Given the description of an element on the screen output the (x, y) to click on. 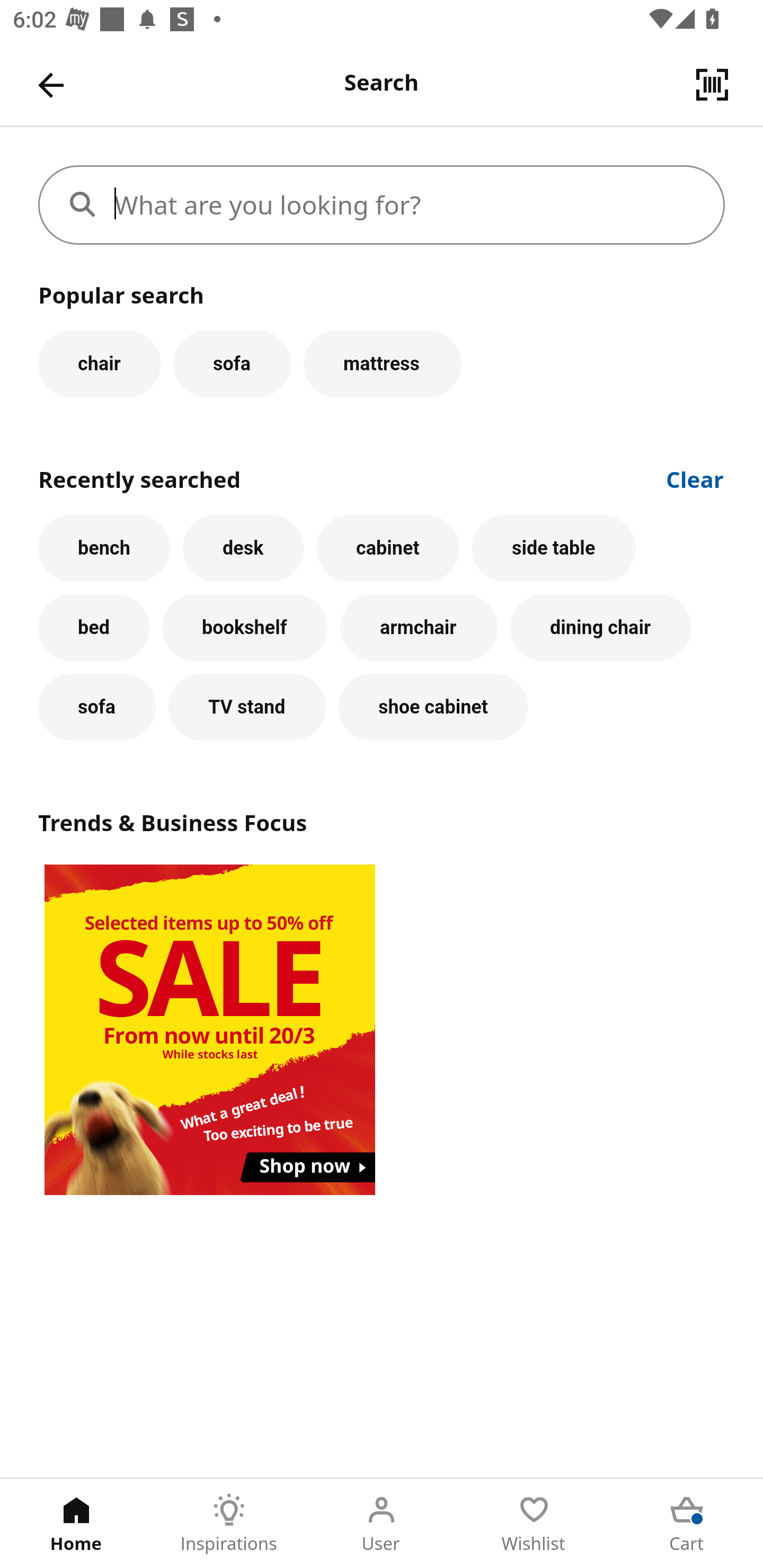
chair (99, 363)
sofa (231, 363)
mattress (381, 363)
Clear (695, 477)
bench (104, 547)
desk (243, 547)
cabinet (387, 547)
side table (553, 547)
bed (93, 627)
bookshelf (244, 627)
armchair (418, 627)
dining chair (600, 627)
sofa (96, 707)
TV stand (246, 707)
shoe cabinet (432, 707)
Home
Tab 1 of 5 (76, 1522)
Inspirations
Tab 2 of 5 (228, 1522)
User
Tab 3 of 5 (381, 1522)
Wishlist
Tab 4 of 5 (533, 1522)
Cart
Tab 5 of 5 (686, 1522)
